Given the description of an element on the screen output the (x, y) to click on. 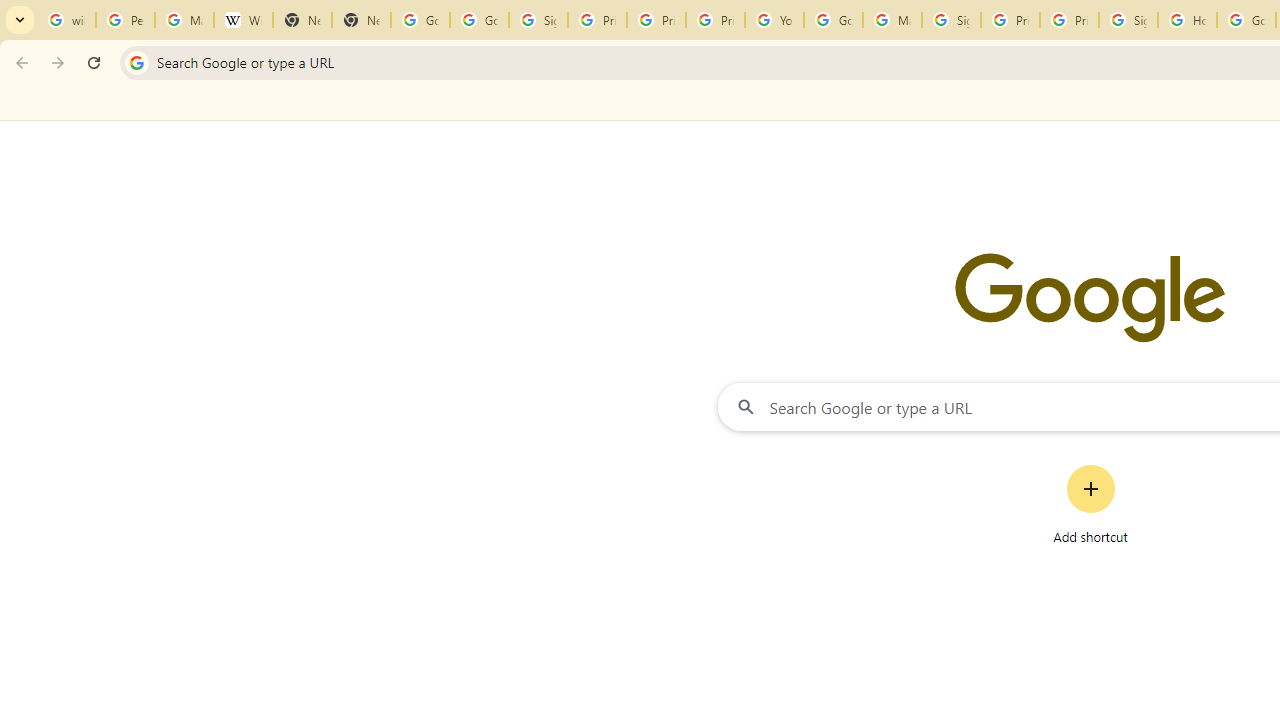
New Tab (301, 20)
Sign in - Google Accounts (1128, 20)
Google Drive: Sign-in (479, 20)
New Tab (360, 20)
Sign in - Google Accounts (950, 20)
Manage your Location History - Google Search Help (183, 20)
